Given the description of an element on the screen output the (x, y) to click on. 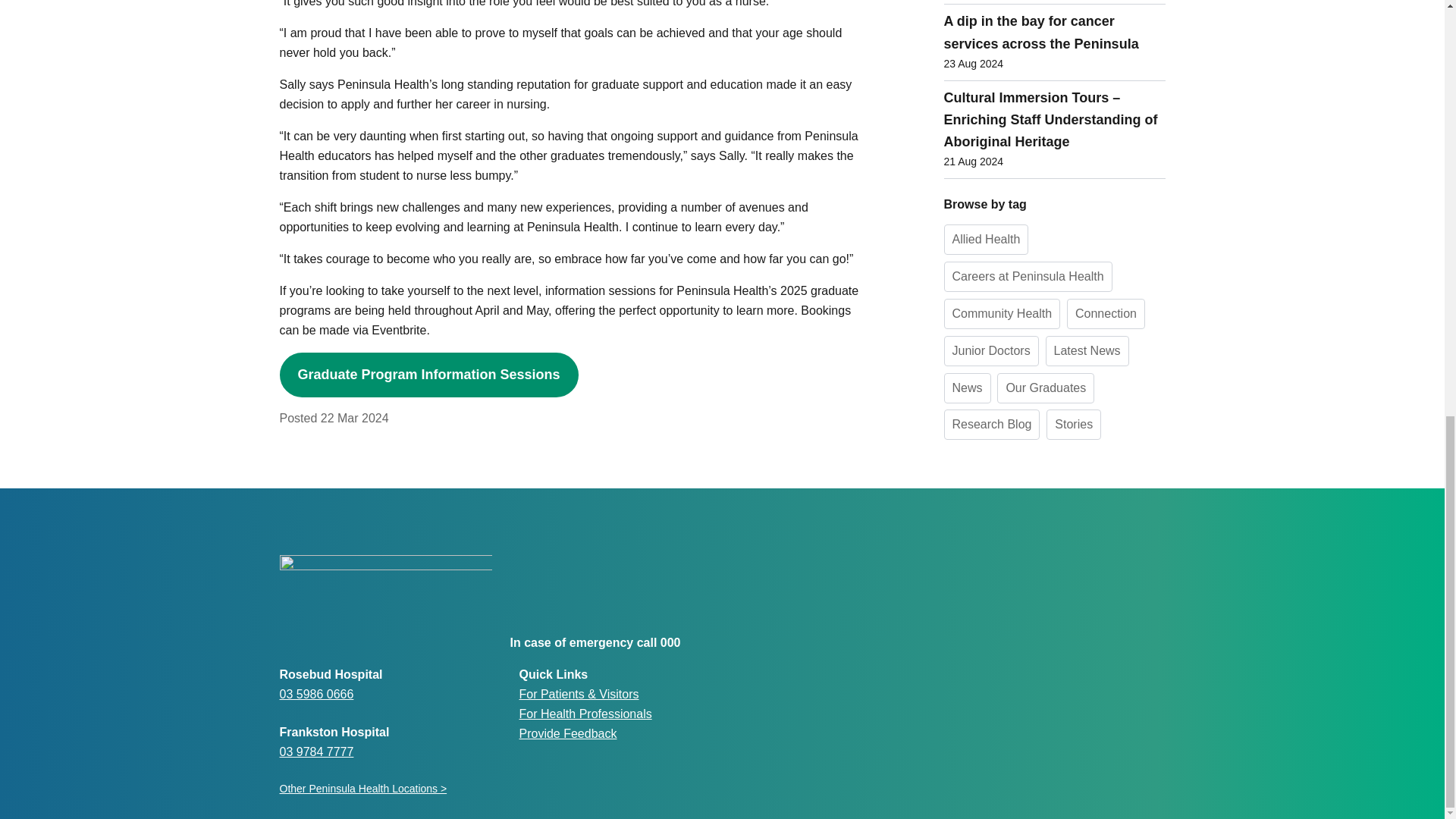
News (966, 14)
Our Graduates (1045, 14)
Graduate Program Information Sessions (428, 374)
